Given the description of an element on the screen output the (x, y) to click on. 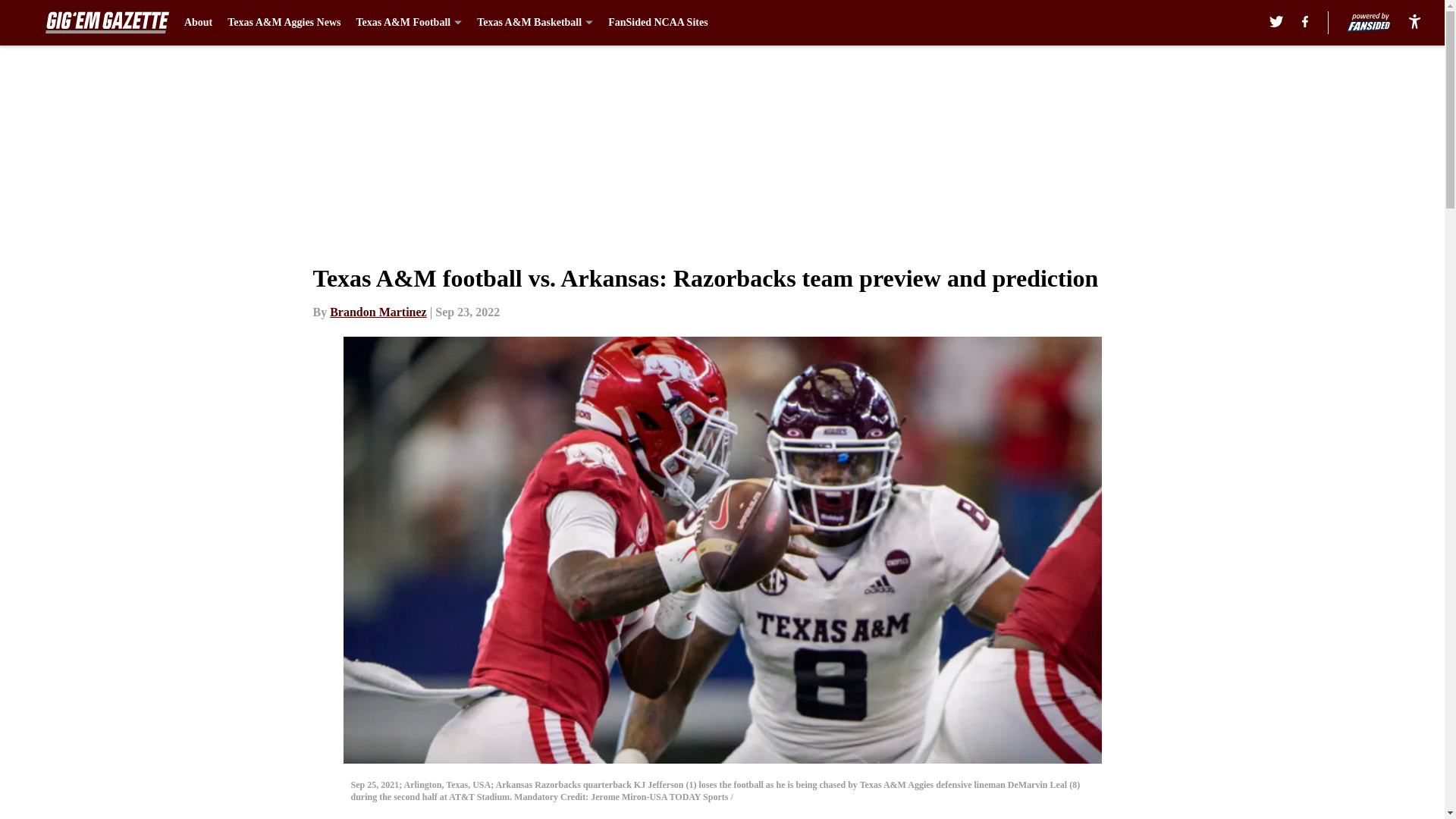
FanSided NCAA Sites (657, 22)
About (198, 22)
Brandon Martinez (378, 311)
